Given the description of an element on the screen output the (x, y) to click on. 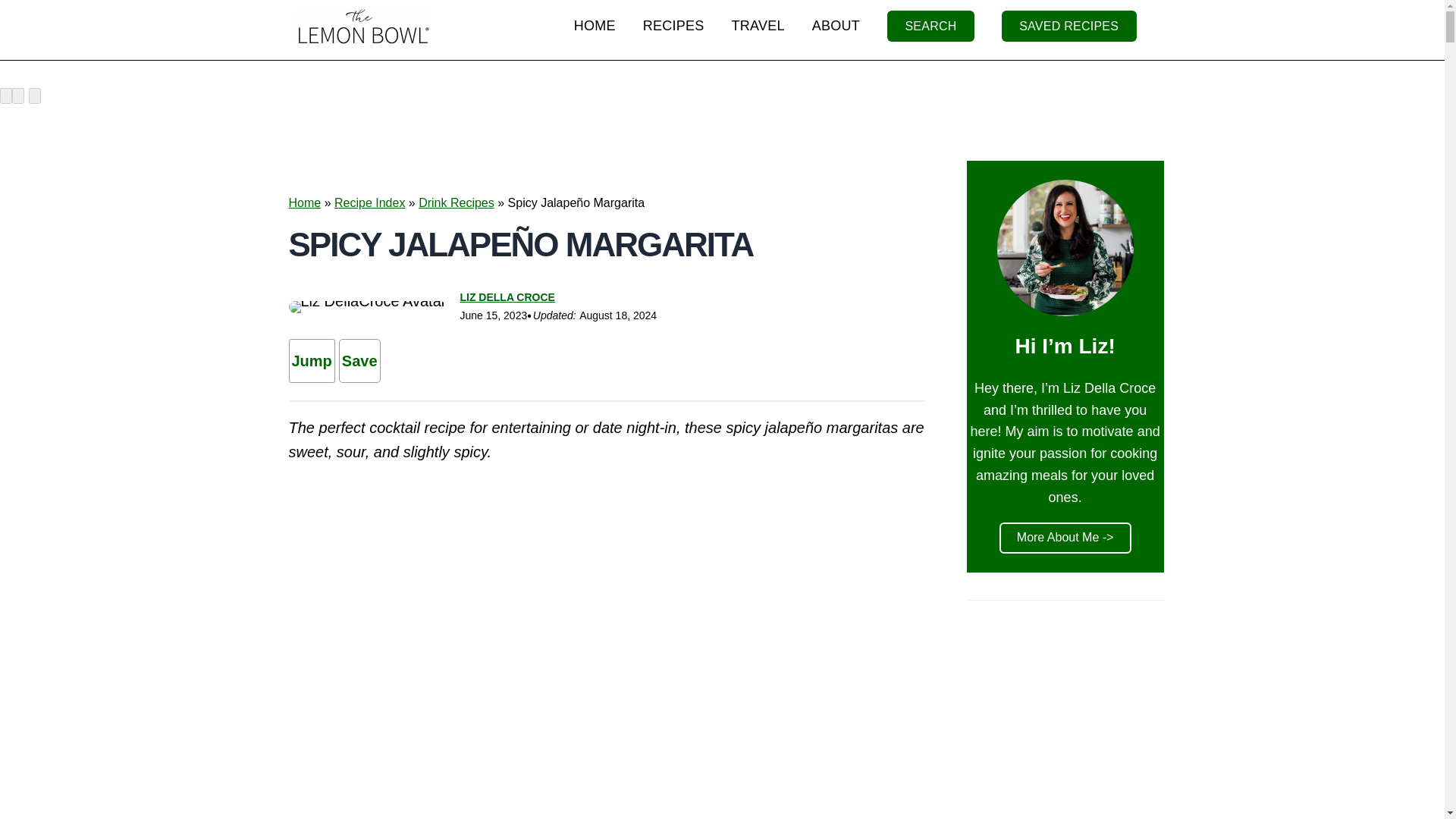
Save (359, 361)
ABOUT (836, 25)
HOME (594, 25)
About Liz (836, 25)
LIZ DELLA CROCE (507, 297)
Recipe Index (369, 202)
SEARCH (930, 25)
Foodie Travel (758, 25)
Jump (311, 361)
TRAVEL (758, 25)
